Given the description of an element on the screen output the (x, y) to click on. 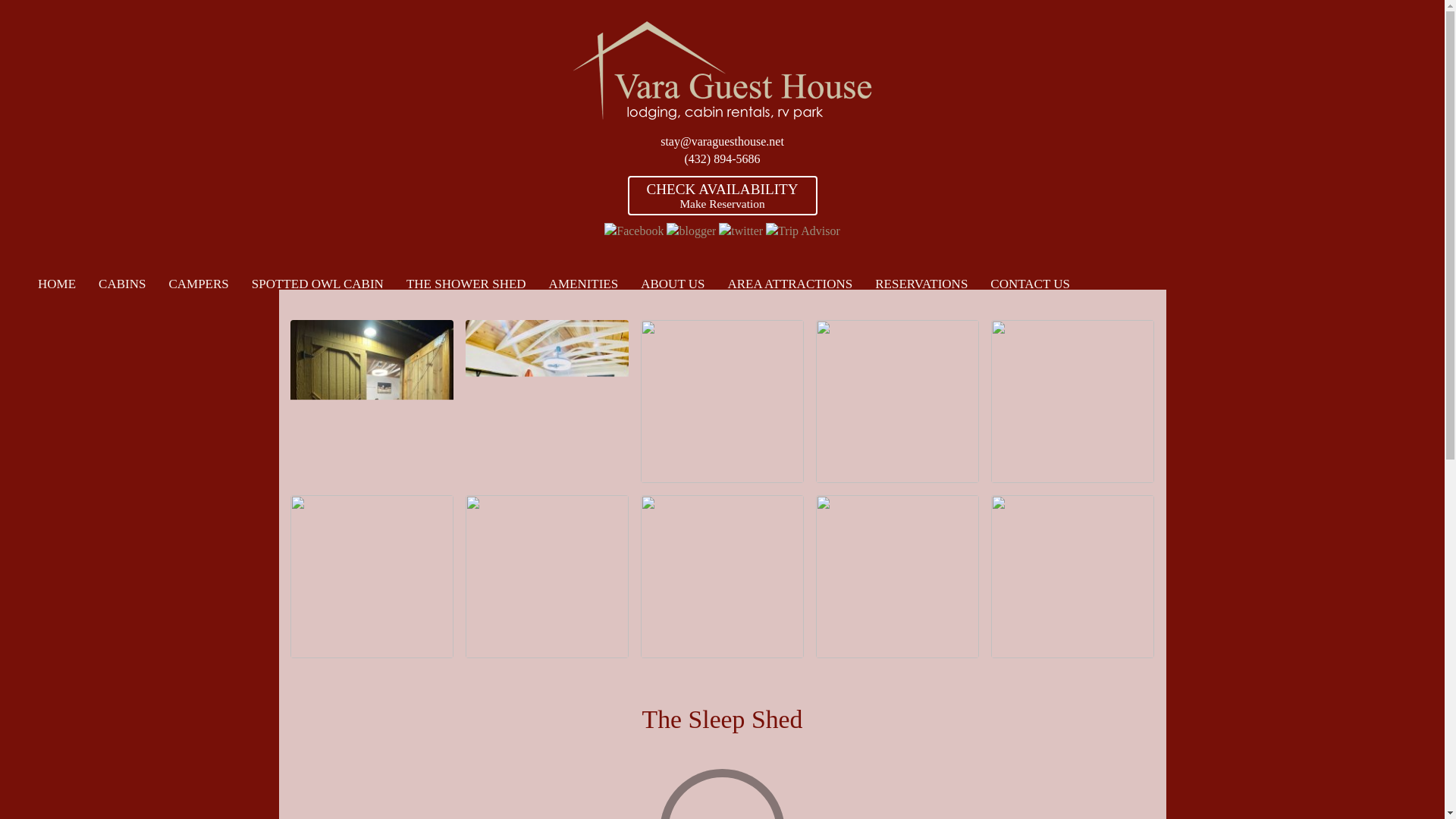
AMENITIES (583, 284)
ABOUT US (672, 284)
HOME (56, 284)
CONTACT US (1029, 284)
SPOTTED OWL CABIN (317, 284)
THE SHOWER SHED (465, 284)
AREA ATTRACTIONS (789, 284)
RESERVATIONS (920, 284)
CABINS (122, 284)
CAMPERS (198, 284)
